Given the description of an element on the screen output the (x, y) to click on. 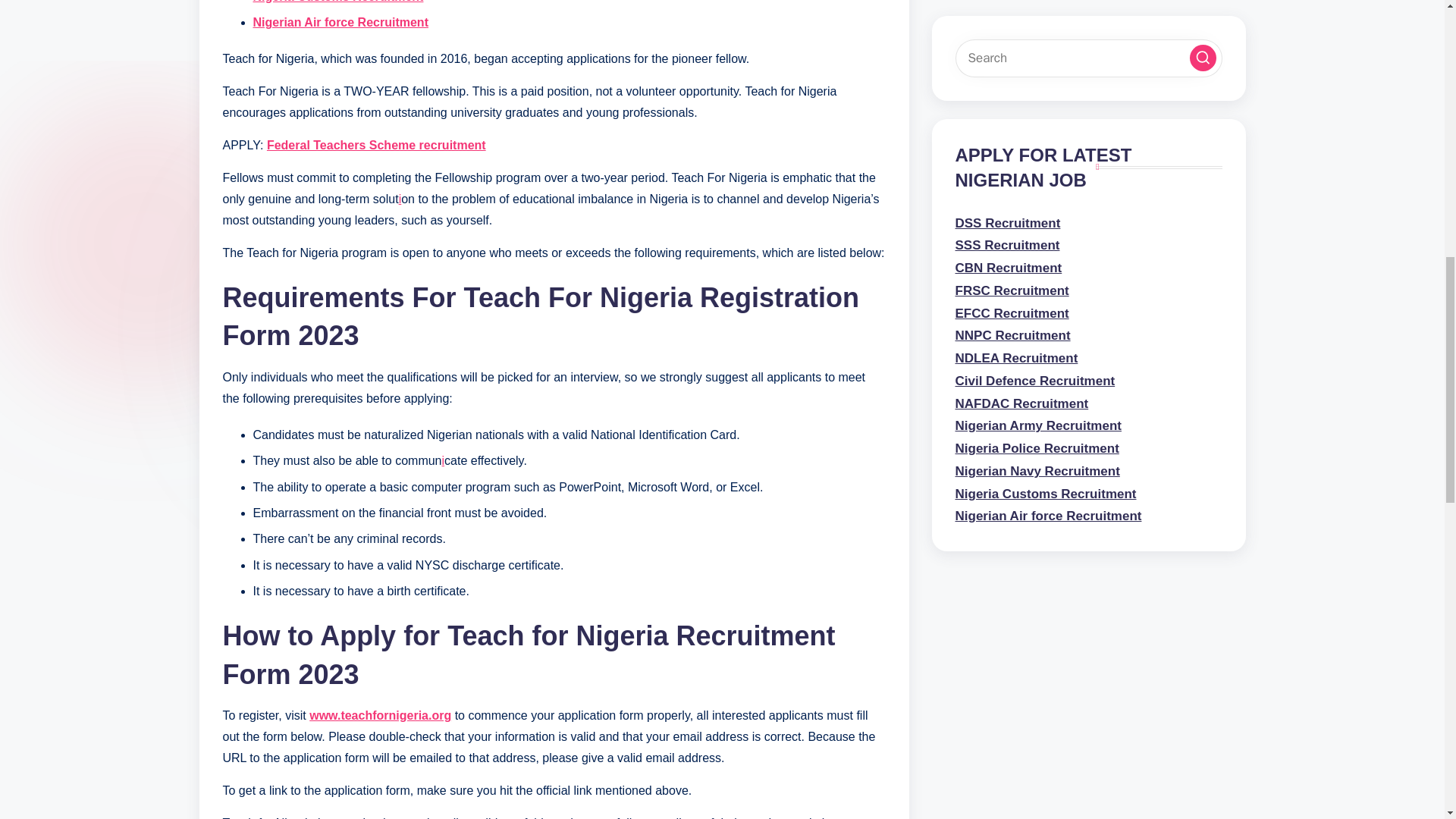
Nigerian Air force Recruitment (340, 21)
Federal Teachers Scheme recruitment (376, 144)
Nigeria Customs Recruitment (338, 1)
www.teachfornigeria.org (379, 715)
